Given the description of an element on the screen output the (x, y) to click on. 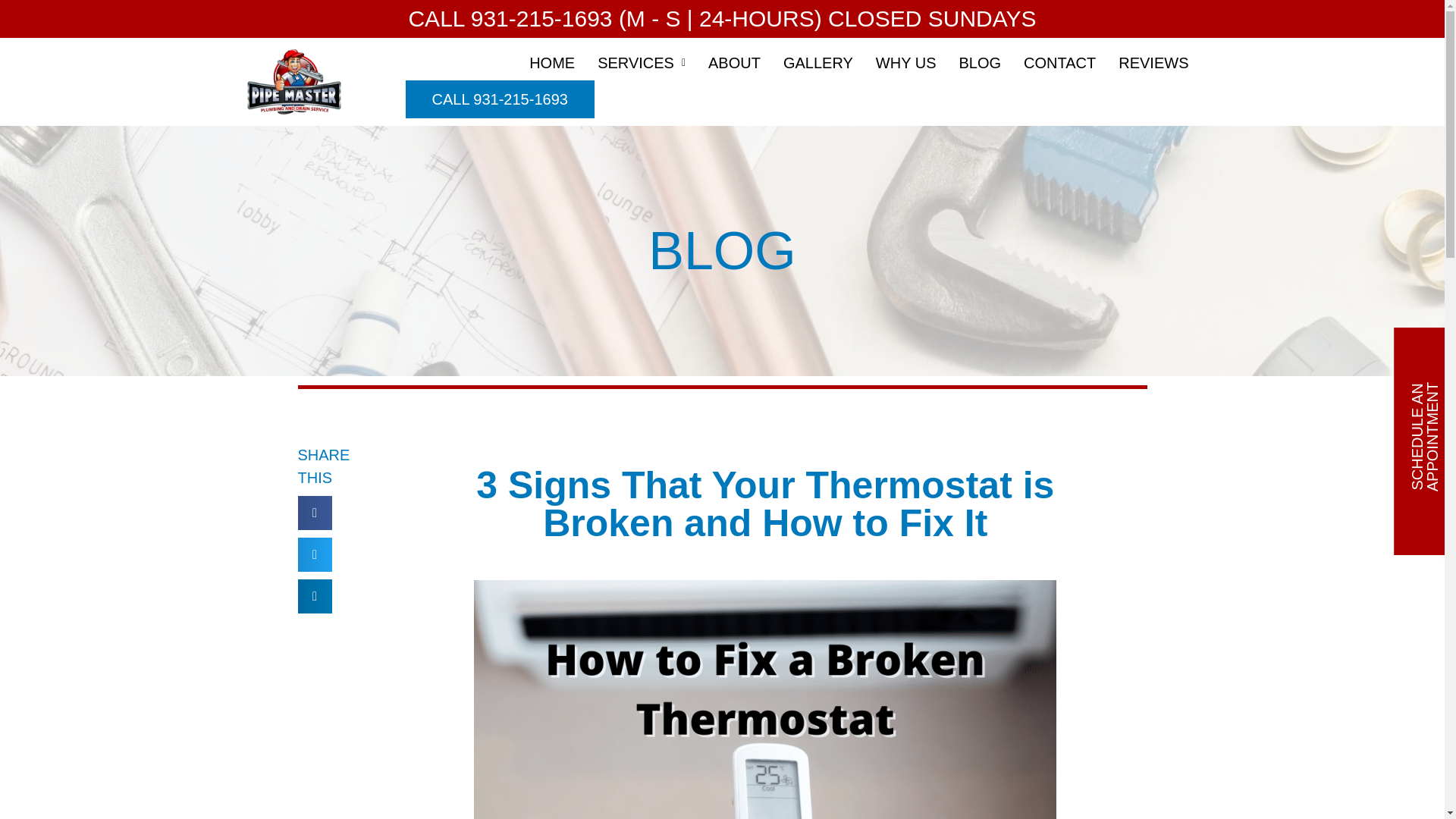
SERVICES (641, 62)
HOME (552, 62)
ABOUT (734, 62)
CONTACT (1058, 62)
REVIEWS (1152, 62)
WHY US (905, 62)
GALLERY (817, 62)
BLOG (979, 62)
